Given the description of an element on the screen output the (x, y) to click on. 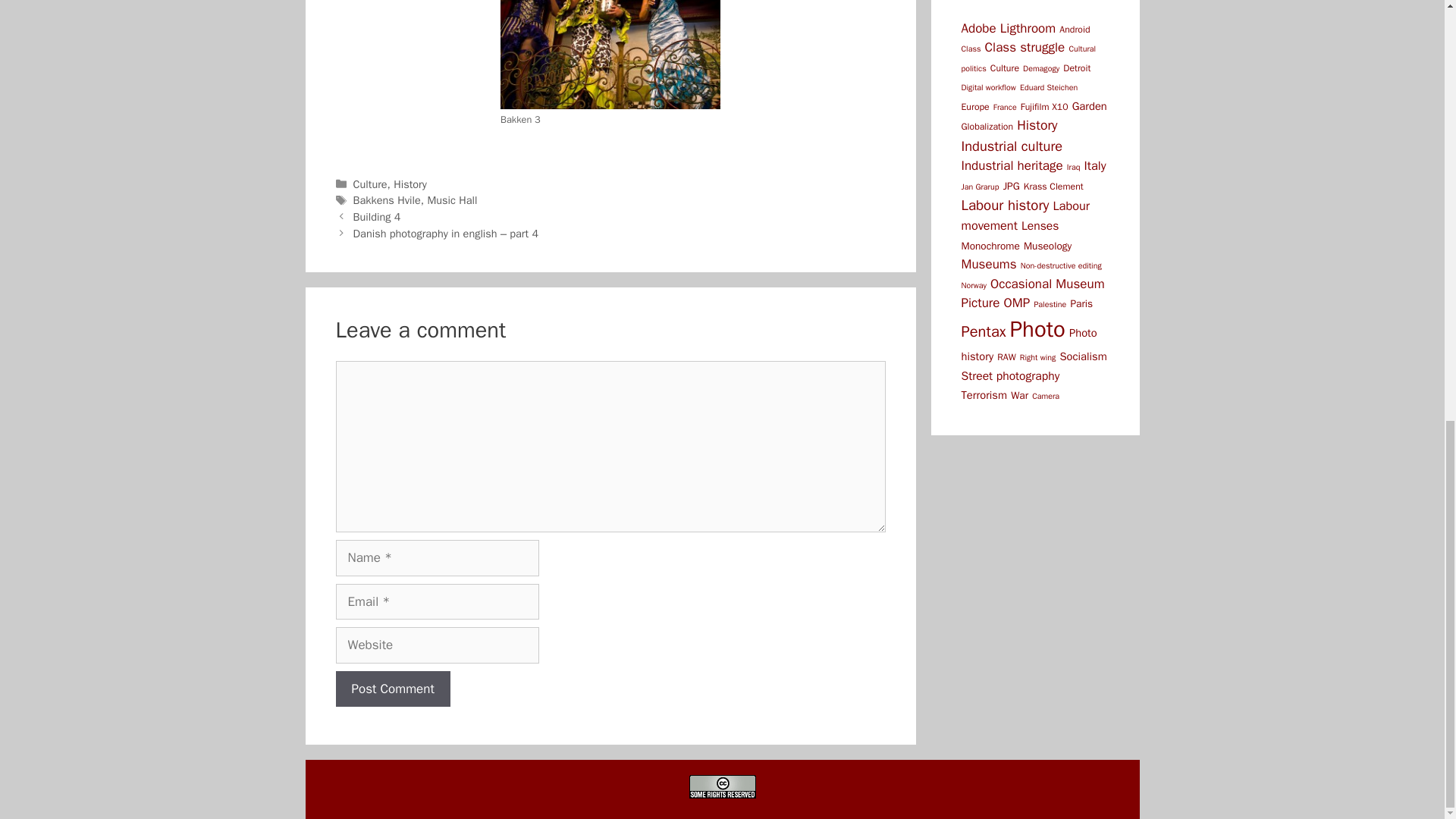
Klik for info om ophavsret (721, 786)
Culture (370, 183)
Building 4 (377, 216)
Post Comment (391, 688)
Bakkens Hvile (386, 200)
Post Comment (391, 688)
Music Hall (451, 200)
History (409, 183)
